Given the description of an element on the screen output the (x, y) to click on. 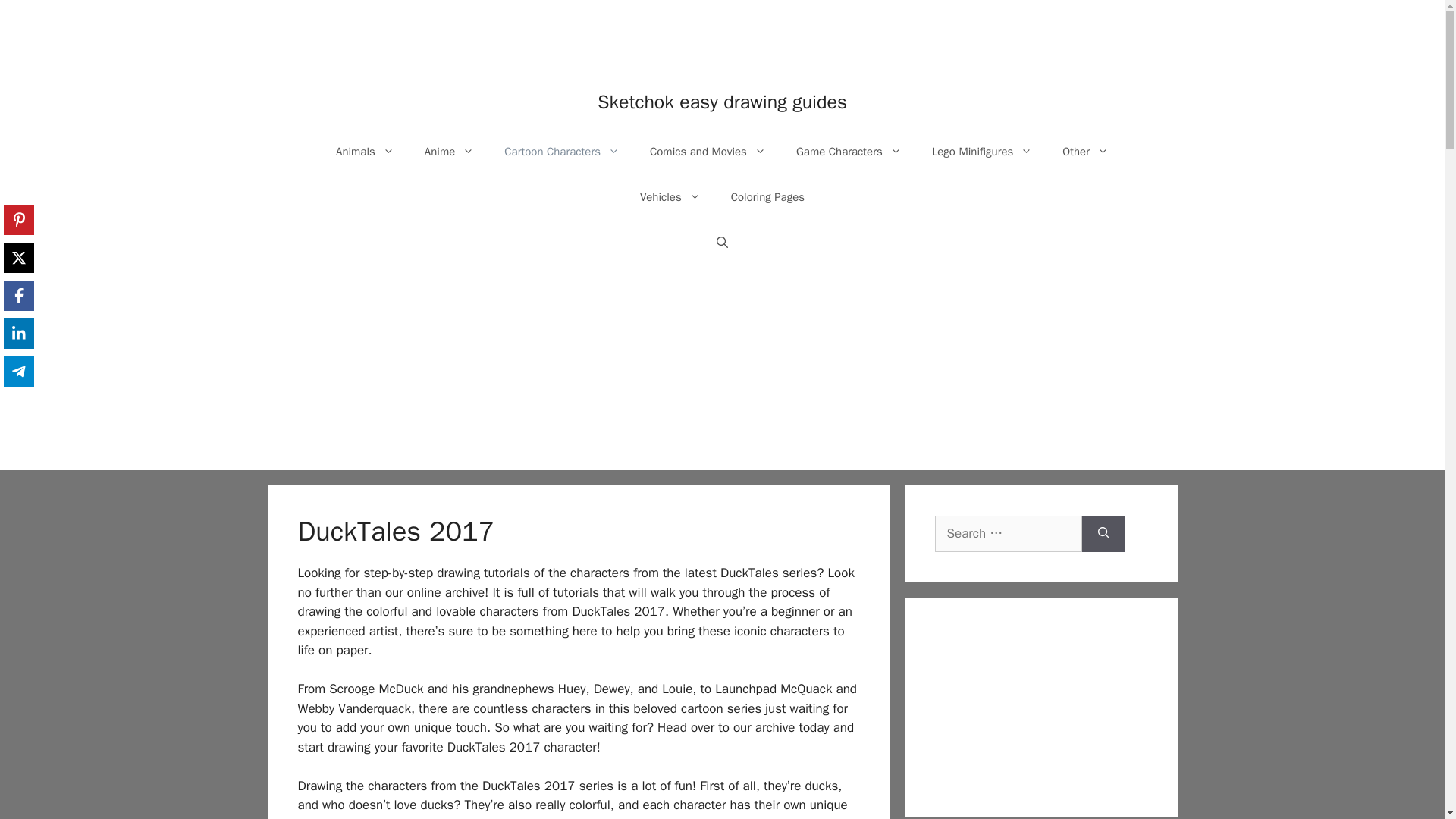
Anime (449, 151)
Sketchok easy drawing guides (721, 101)
Animals (364, 151)
